Given the description of an element on the screen output the (x, y) to click on. 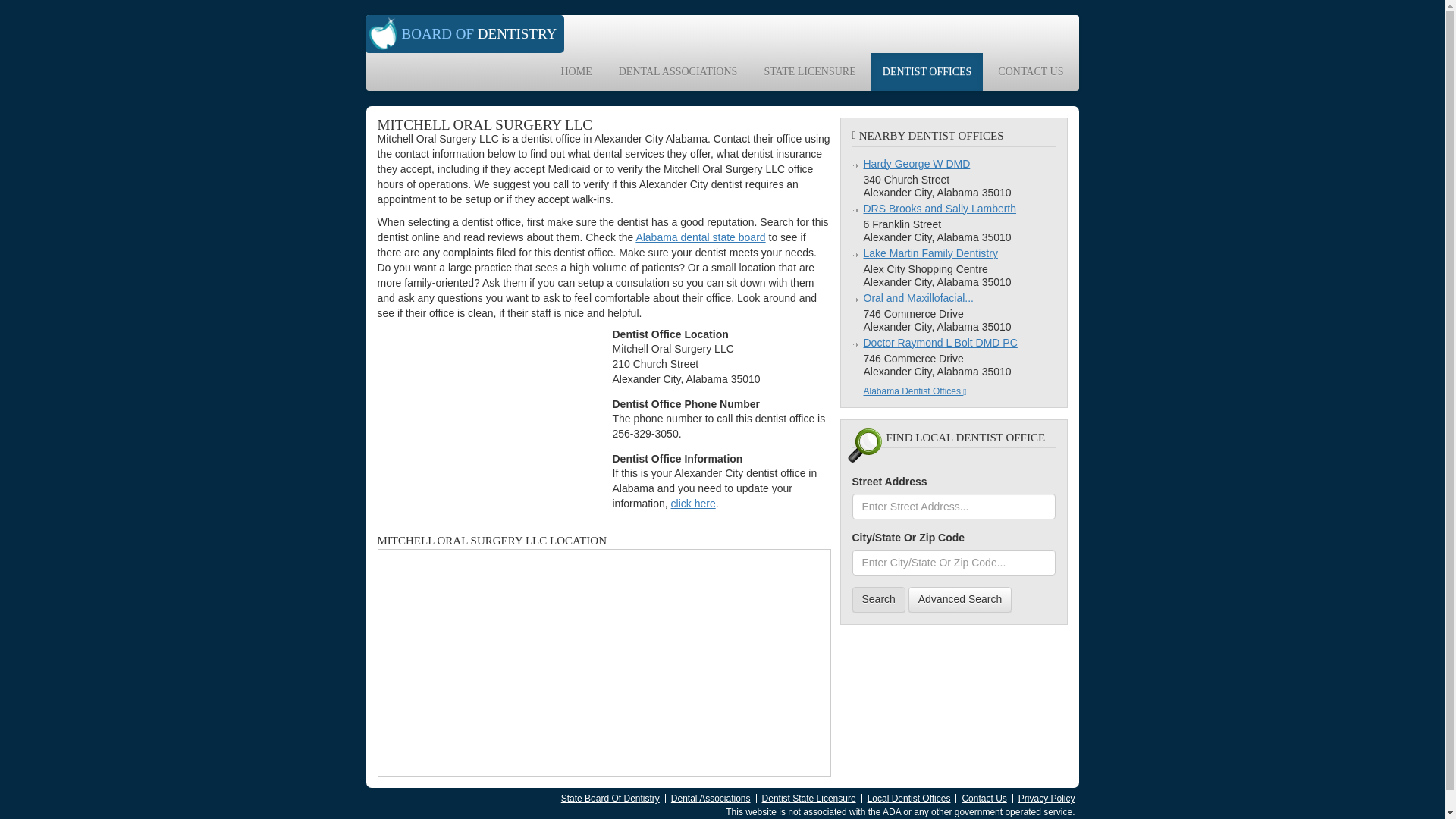
Alabama Dentist Offices (914, 389)
HOME (575, 71)
DRS Brooks and Sally Lamberth (939, 207)
Lake Martin Family  Dentistry Office (930, 253)
click here (693, 503)
Advanced Search (959, 599)
BOARD OF DENTISTRY (464, 34)
Contact Us (983, 798)
Local Dentist Offices (908, 798)
Dentist State Licensure (808, 798)
STATE LICENSURE (809, 71)
State Board Of Dentistry (609, 798)
Search (878, 599)
Hardy George W DMD Dentist Office (916, 163)
